Given the description of an element on the screen output the (x, y) to click on. 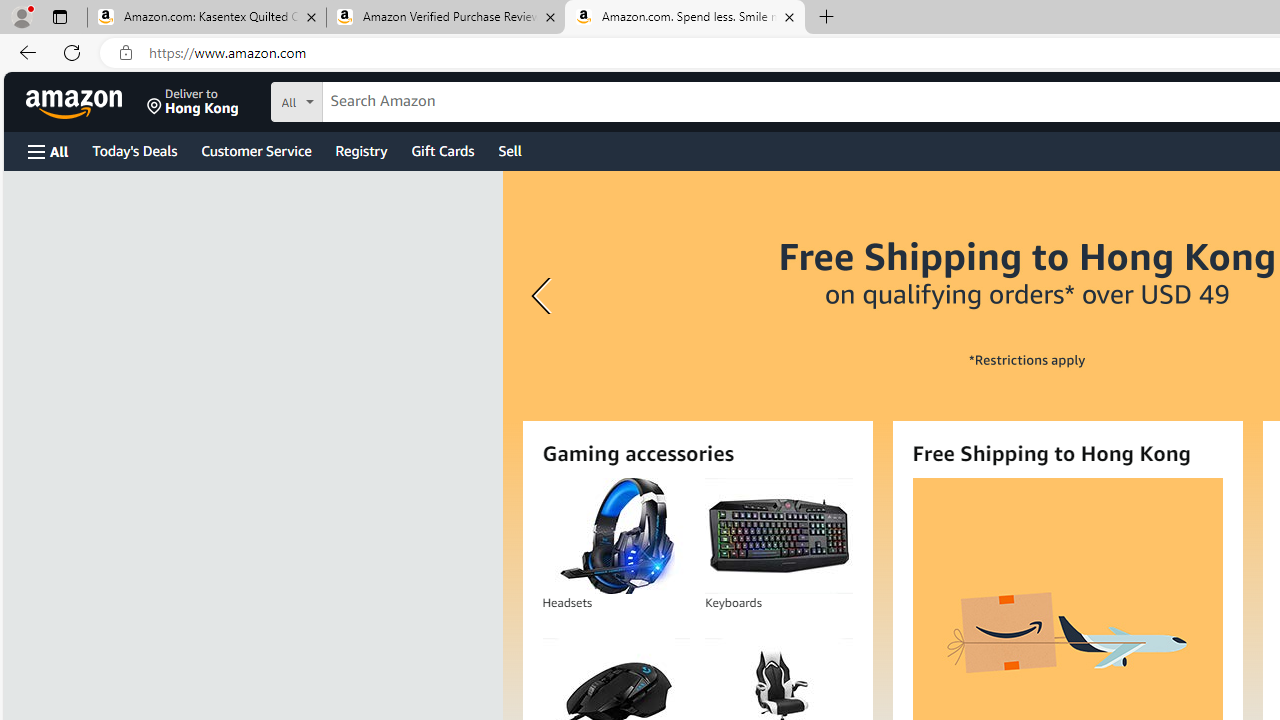
Previous slide (544, 296)
Amazon.com. Spend less. Smile more. (684, 17)
Search in (371, 99)
Amazon (76, 101)
Customer Service (256, 150)
Today's Deals (134, 150)
Headsets (616, 536)
Keyboards (778, 536)
Registry (360, 150)
